Given the description of an element on the screen output the (x, y) to click on. 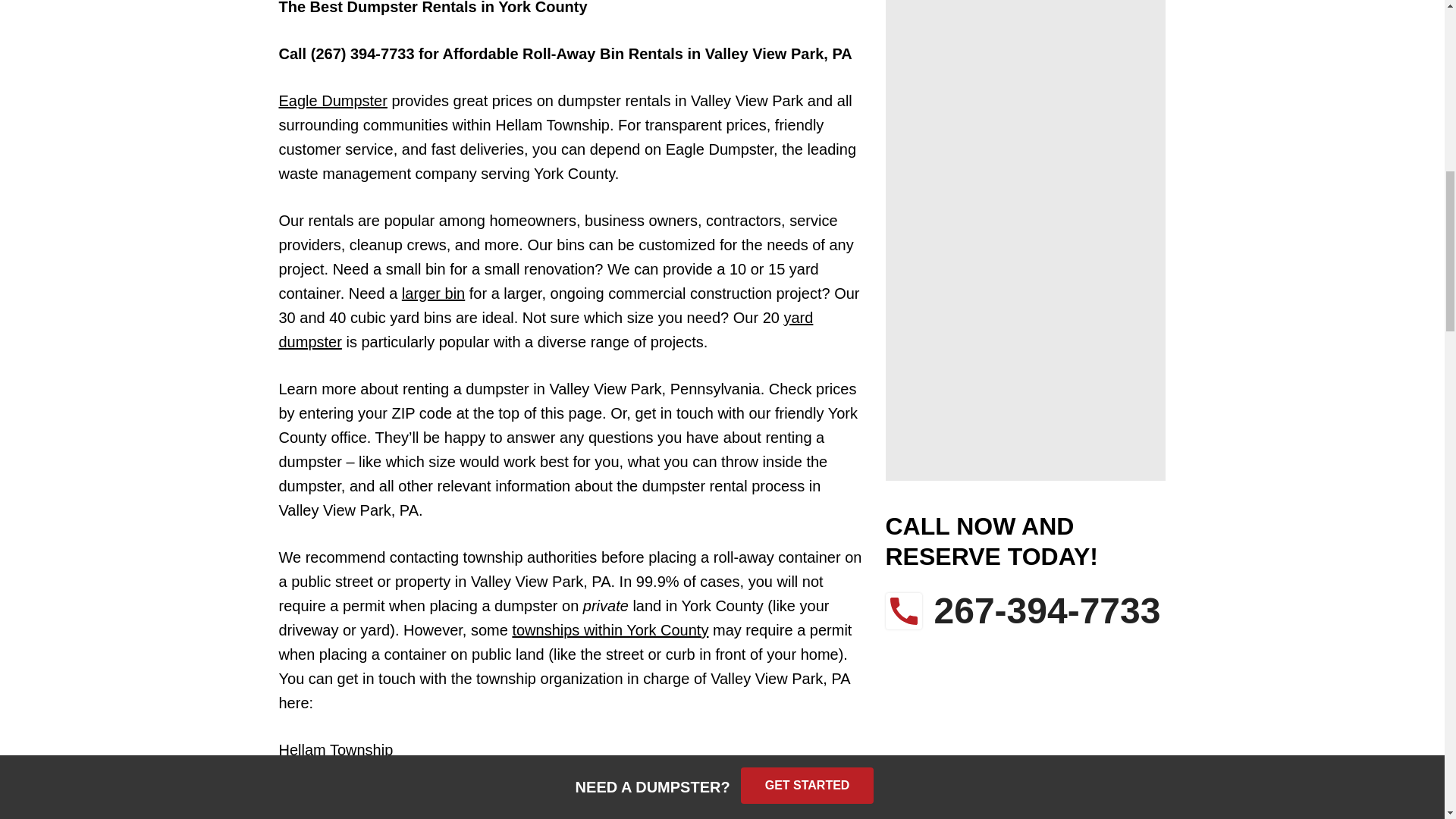
larger bin (432, 293)
Eagle Dumpster (333, 100)
townships within York County (609, 629)
Hellam Township Web Site (368, 773)
267-394-7733 (1025, 610)
yard dumpster (546, 329)
